Given the description of an element on the screen output the (x, y) to click on. 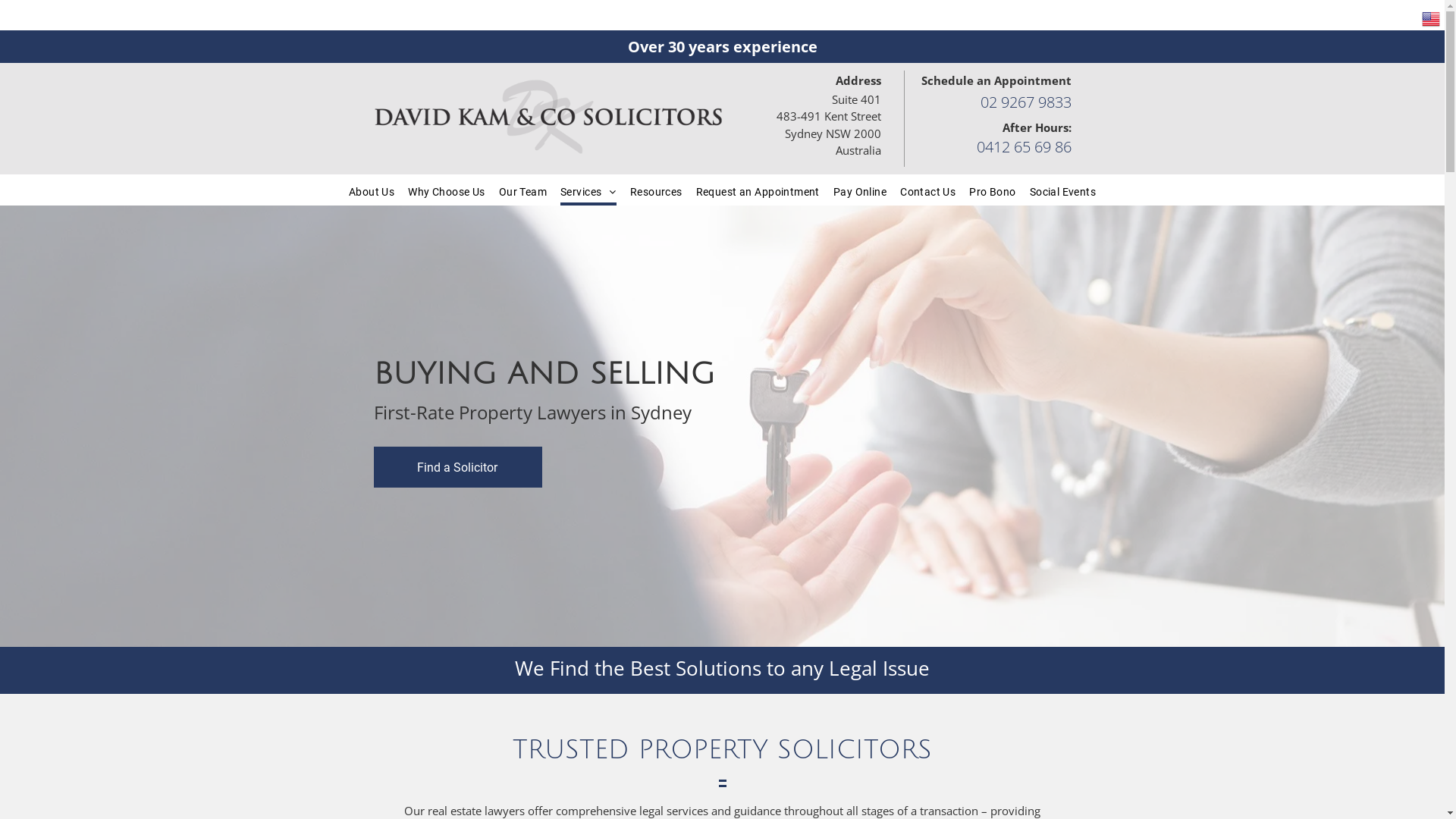
Services Element type: text (588, 190)
Social Events Element type: text (1062, 190)
02 9267 9833 Element type: text (1024, 101)
Our Team Element type: text (522, 190)
Why Choose Us Element type: text (446, 190)
Resources Element type: text (656, 190)
Pay Online Element type: text (859, 190)
Contact Us Element type: text (927, 190)
About Us Element type: text (371, 190)
Request an Appointment Element type: text (757, 190)
Find a Solicitor Element type: text (457, 466)
Pro Bono Element type: text (992, 190)
0412 65 69 86 Element type: text (1023, 146)
